Given the description of an element on the screen output the (x, y) to click on. 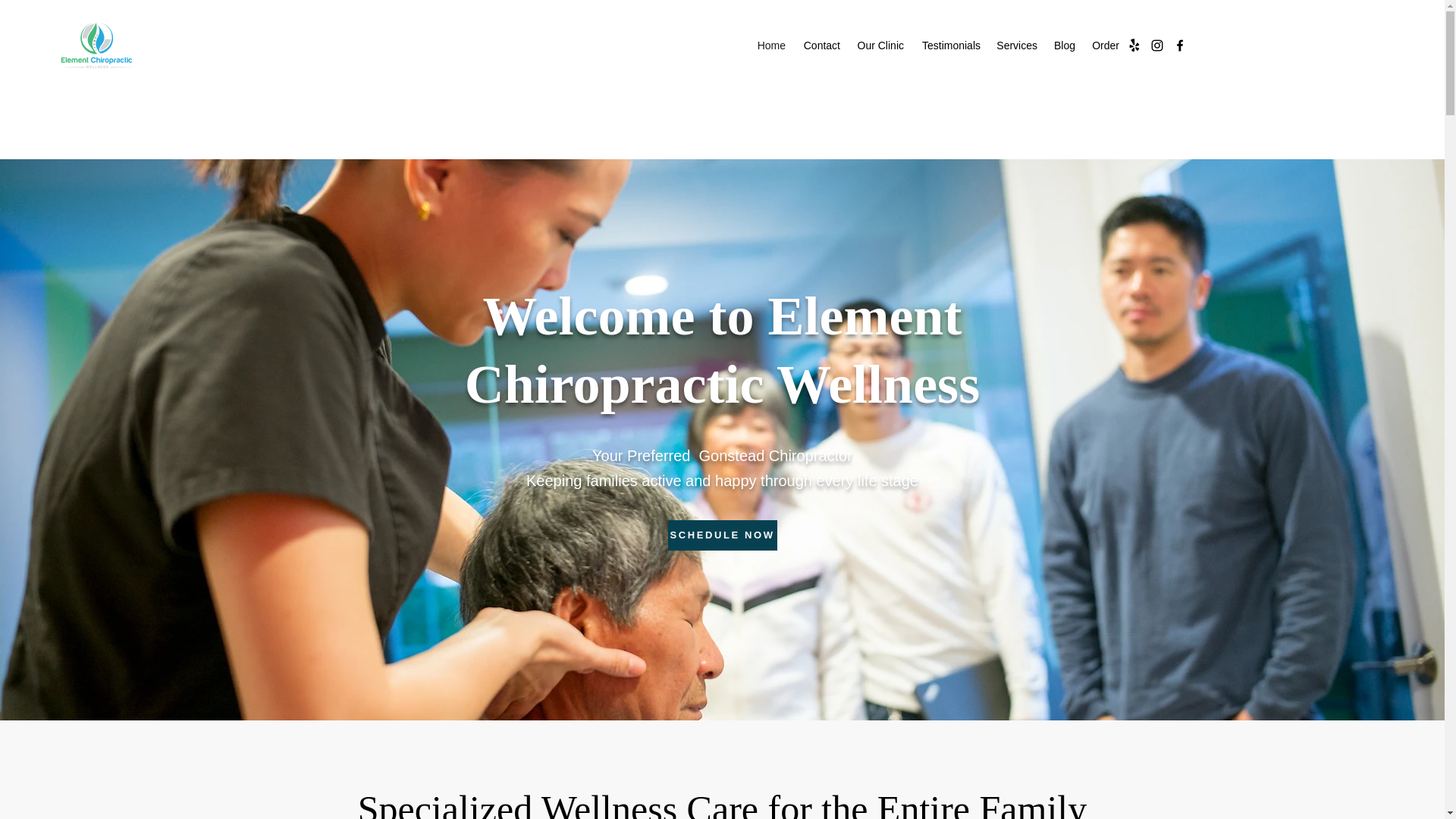
Contact (820, 45)
Order (1104, 45)
Services (1016, 45)
Our Clinic (879, 45)
SCHEDULE NOW (721, 535)
Testimonials (949, 45)
Home (770, 45)
Blog (1064, 45)
